Given the description of an element on the screen output the (x, y) to click on. 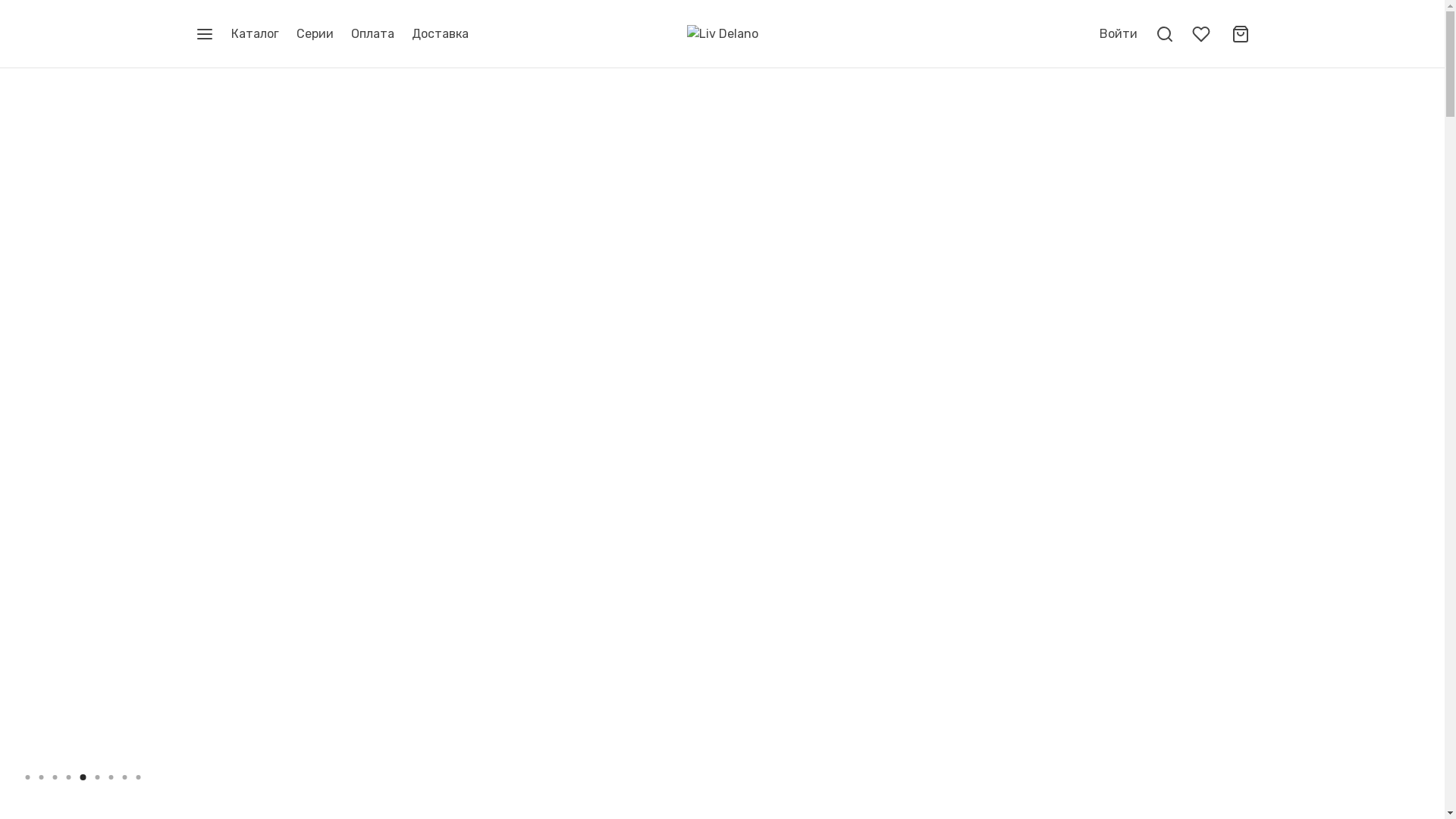
8 Element type: text (124, 777)
2 Element type: text (40, 777)
5 Element type: text (83, 777)
7 Element type: text (110, 777)
1 Element type: text (27, 777)
9 Element type: text (137, 777)
3 Element type: text (55, 777)
4 Element type: text (69, 777)
6 Element type: text (96, 777)
Search Element type: text (15, 11)
